Given the description of an element on the screen output the (x, y) to click on. 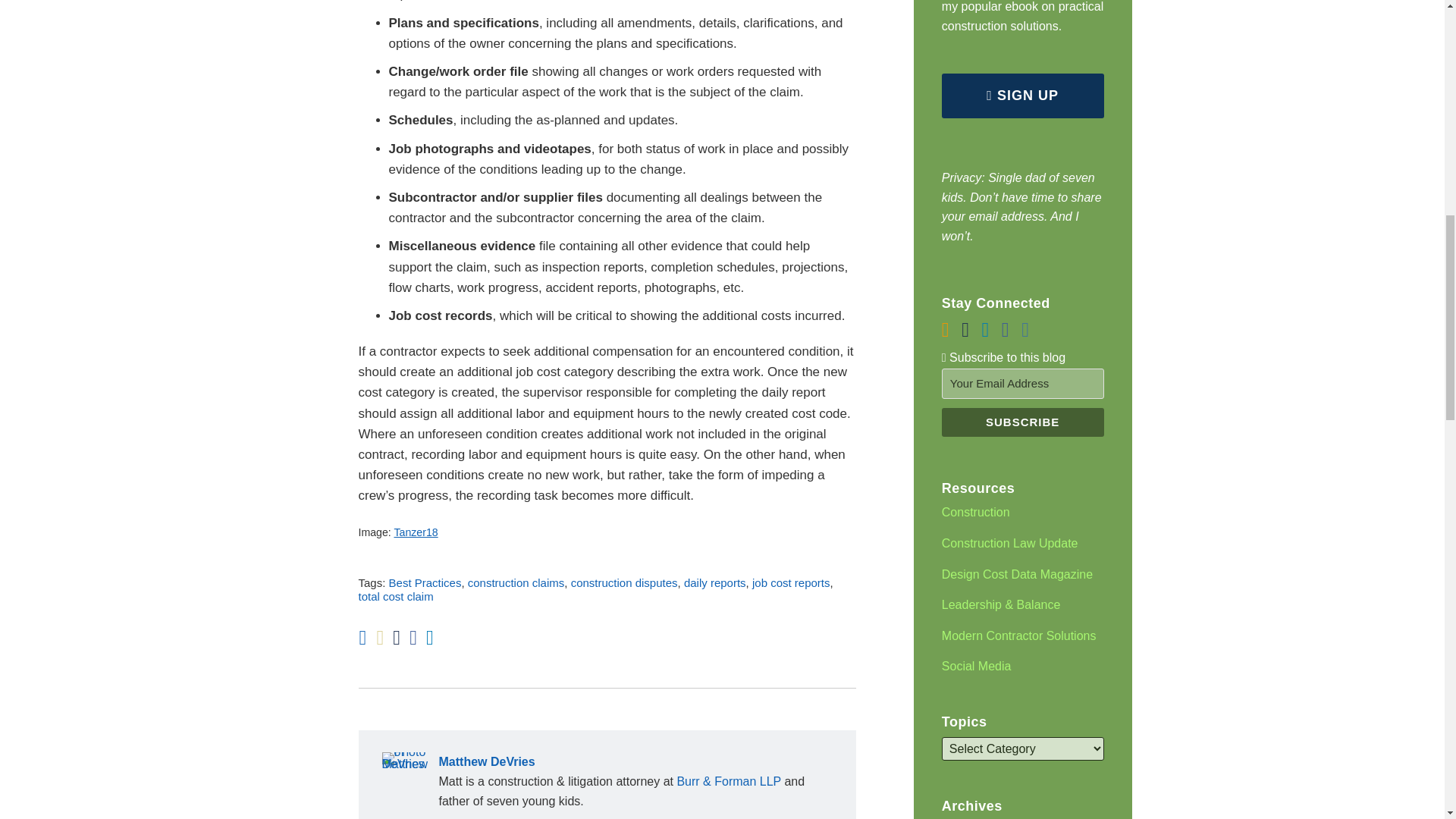
total cost claim (395, 595)
Best Practices (424, 582)
construction disputes (624, 582)
job cost reports (790, 582)
Subscribe (1022, 421)
Tanzer18 (415, 532)
daily reports (714, 582)
Matthew DeVries (606, 762)
construction claims (515, 582)
